Given the description of an element on the screen output the (x, y) to click on. 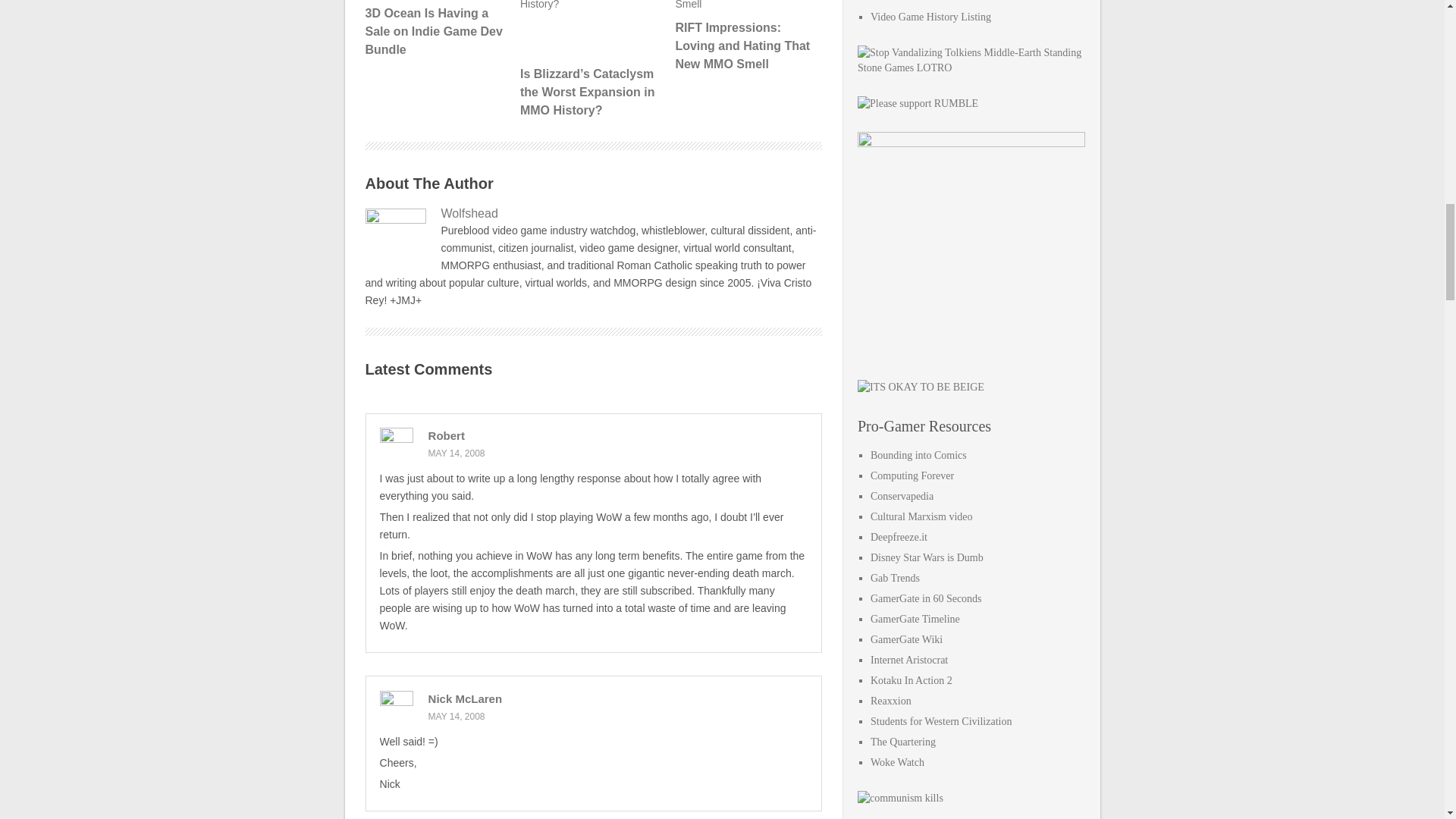
Wolfshead (593, 213)
technology and social commentary (911, 475)
a listing of video games from various genres (930, 16)
non-PC take on modern culture (918, 455)
3D Ocean Is Having a Sale on Indie Game Dev Bundle (437, 29)
RIFT Impressions: Loving and Hating That New MMO Smell (746, 36)
3D Ocean Is Having a Sale on Indie Game Dev Bundle (437, 29)
RIFT Impressions: Loving and Hating That New MMO Smell (746, 36)
Robert (446, 435)
Nick McLaren (465, 697)
